Given the description of an element on the screen output the (x, y) to click on. 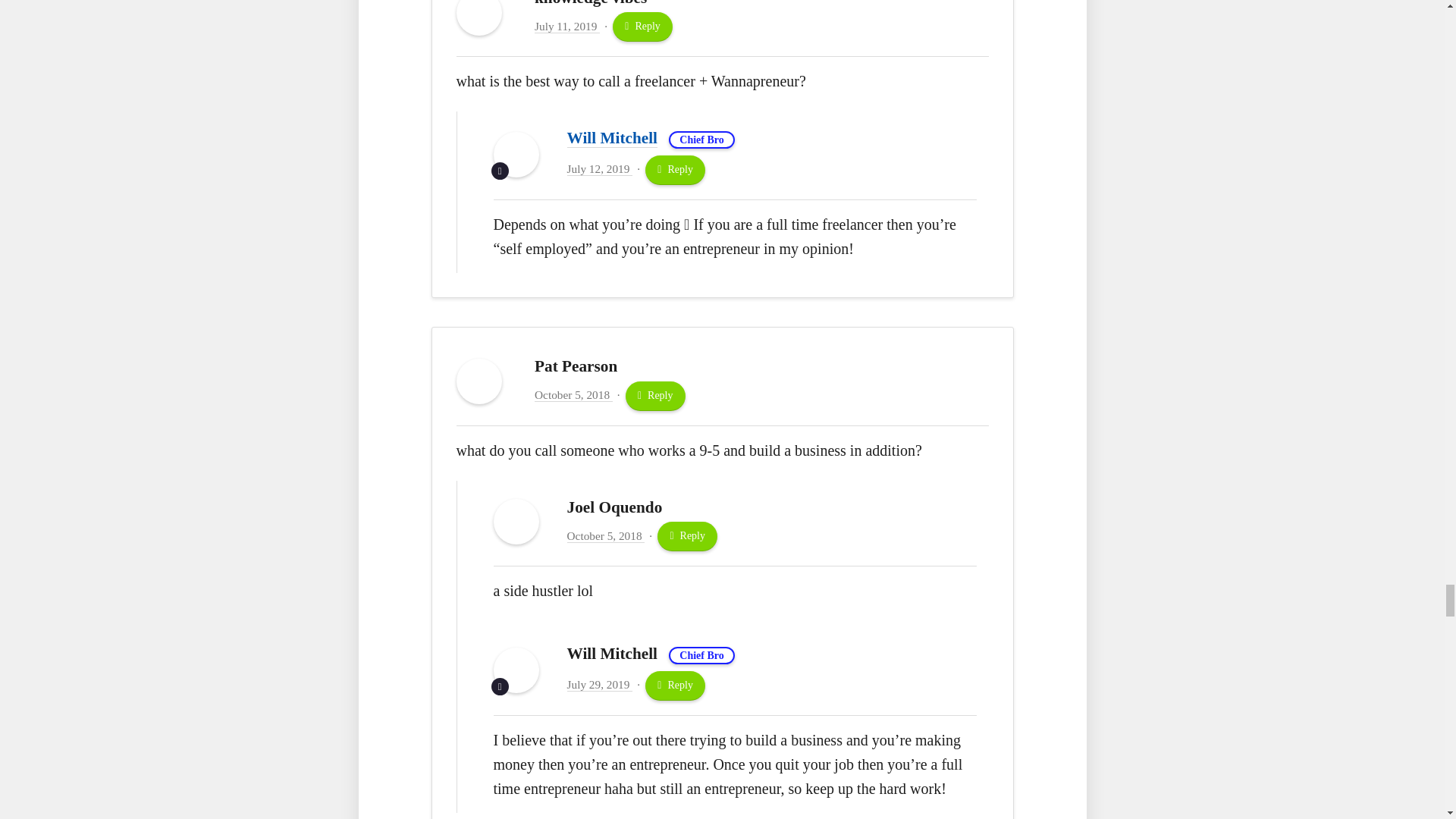
Post Author (500, 686)
Gravatar for Pat Pearson (479, 381)
Post Author (500, 170)
Gravatar for Joel Oquendo (515, 521)
Gravatar for Will Mitchell (515, 154)
Gravatar for Will Mitchell (515, 669)
Gravatar for knowledge vibes (479, 18)
